Given the description of an element on the screen output the (x, y) to click on. 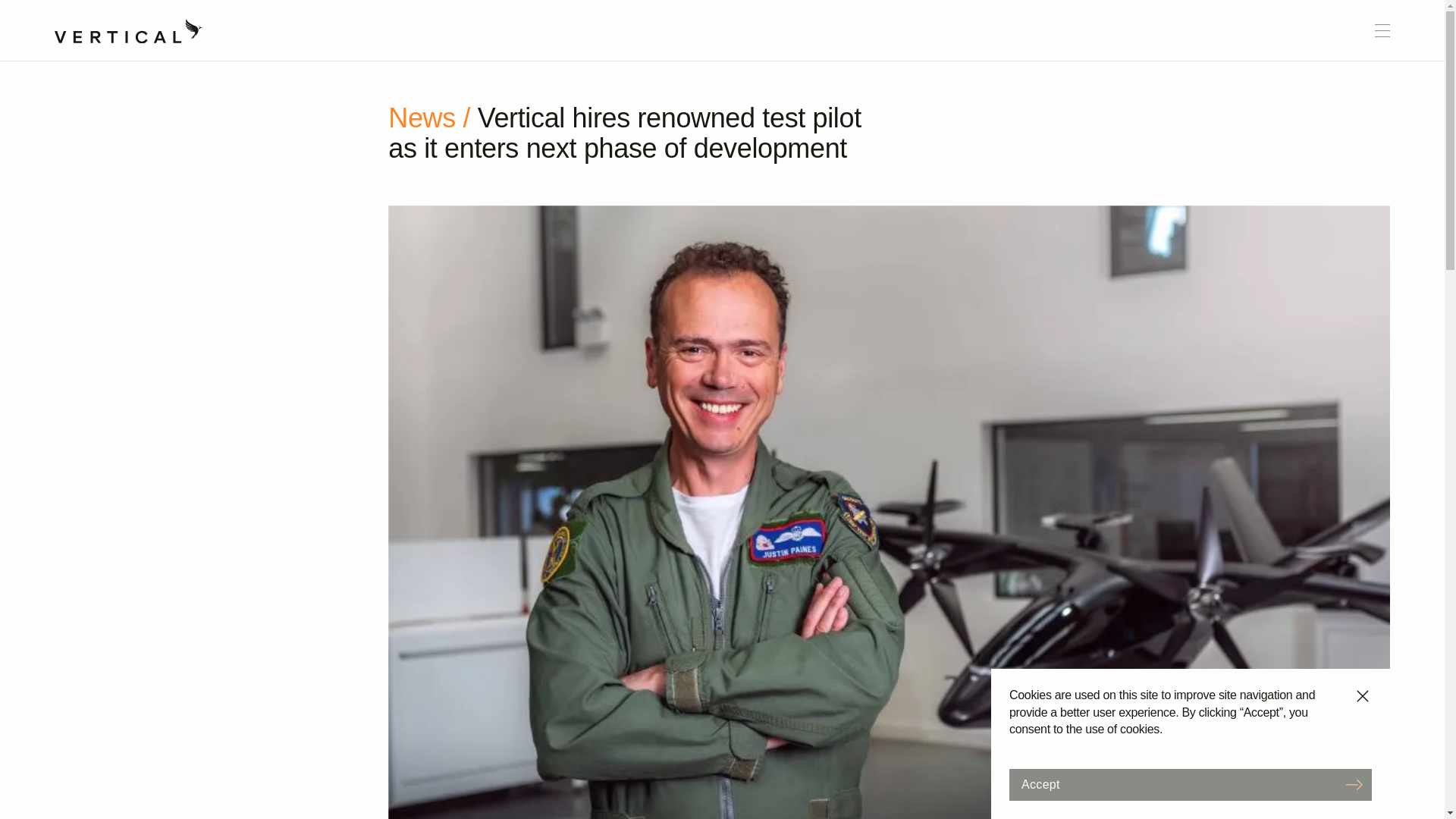
Accept (1190, 784)
Menu (1382, 29)
Vertical Aerospace (129, 26)
